Given the description of an element on the screen output the (x, y) to click on. 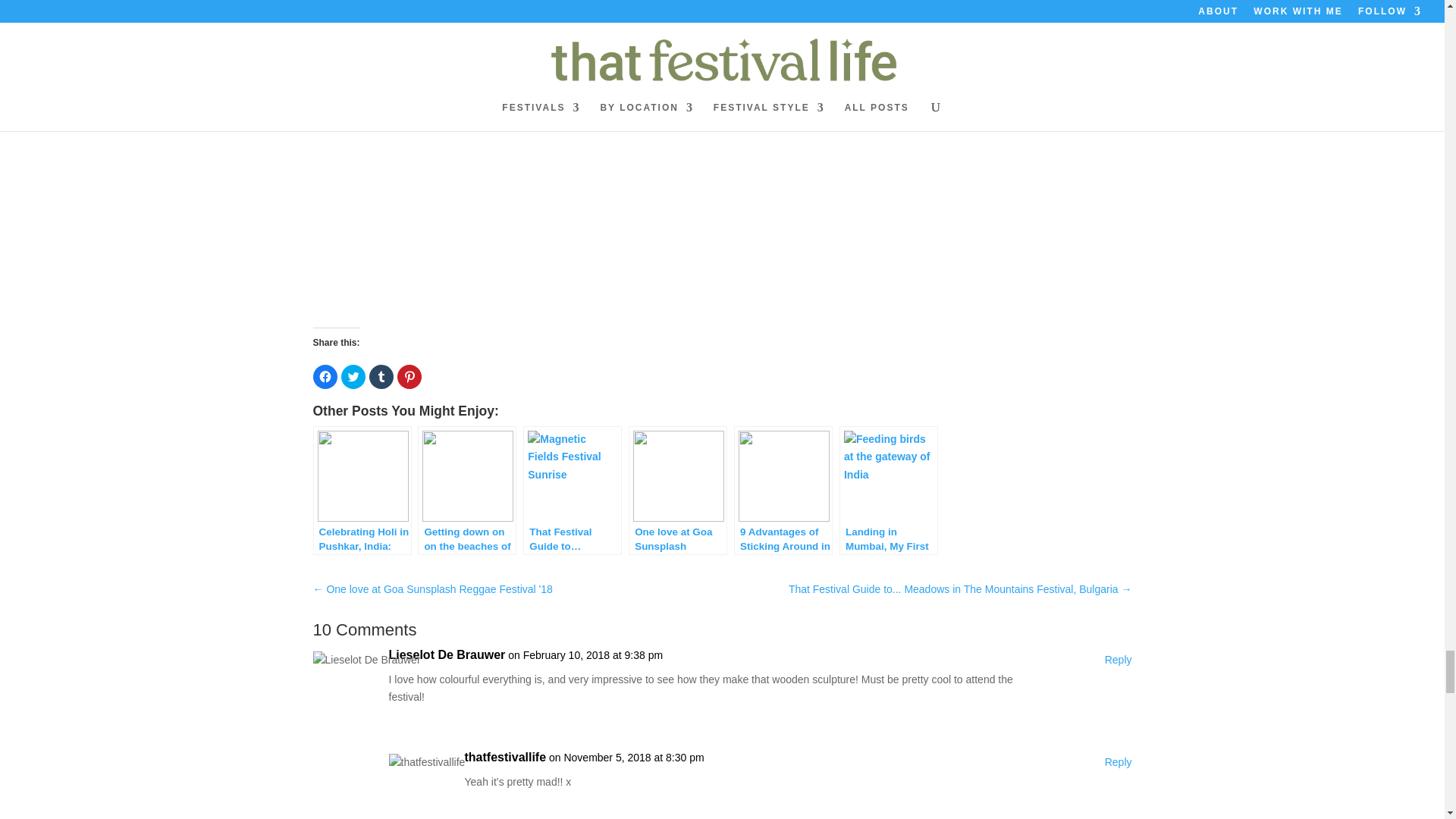
Click to share on Twitter (352, 376)
Click to share on Pinterest (409, 376)
Click to share on Tumblr (380, 376)
Click to share on Facebook (324, 376)
